Given the description of an element on the screen output the (x, y) to click on. 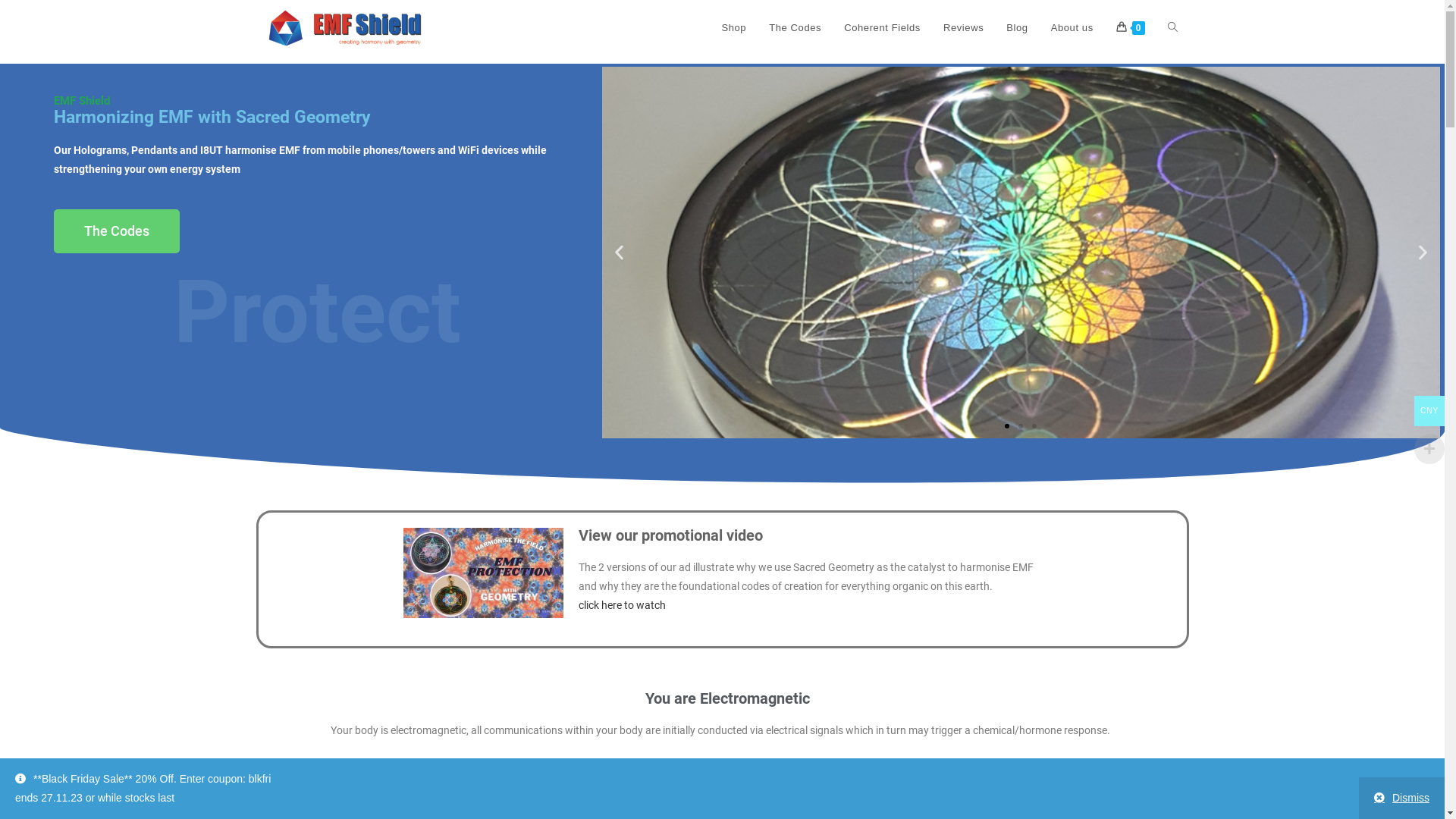
Shop Element type: text (733, 28)
Coherent Fields Element type: text (881, 28)
About us Element type: text (1071, 28)
Blog Element type: text (1016, 28)
The Codes Element type: text (794, 28)
click here to watch Element type: text (621, 605)
watch ad Element type: hover (483, 572)
Reviews Element type: text (962, 28)
0 Element type: text (1130, 28)
The Codes Element type: text (116, 231)
